Given the description of an element on the screen output the (x, y) to click on. 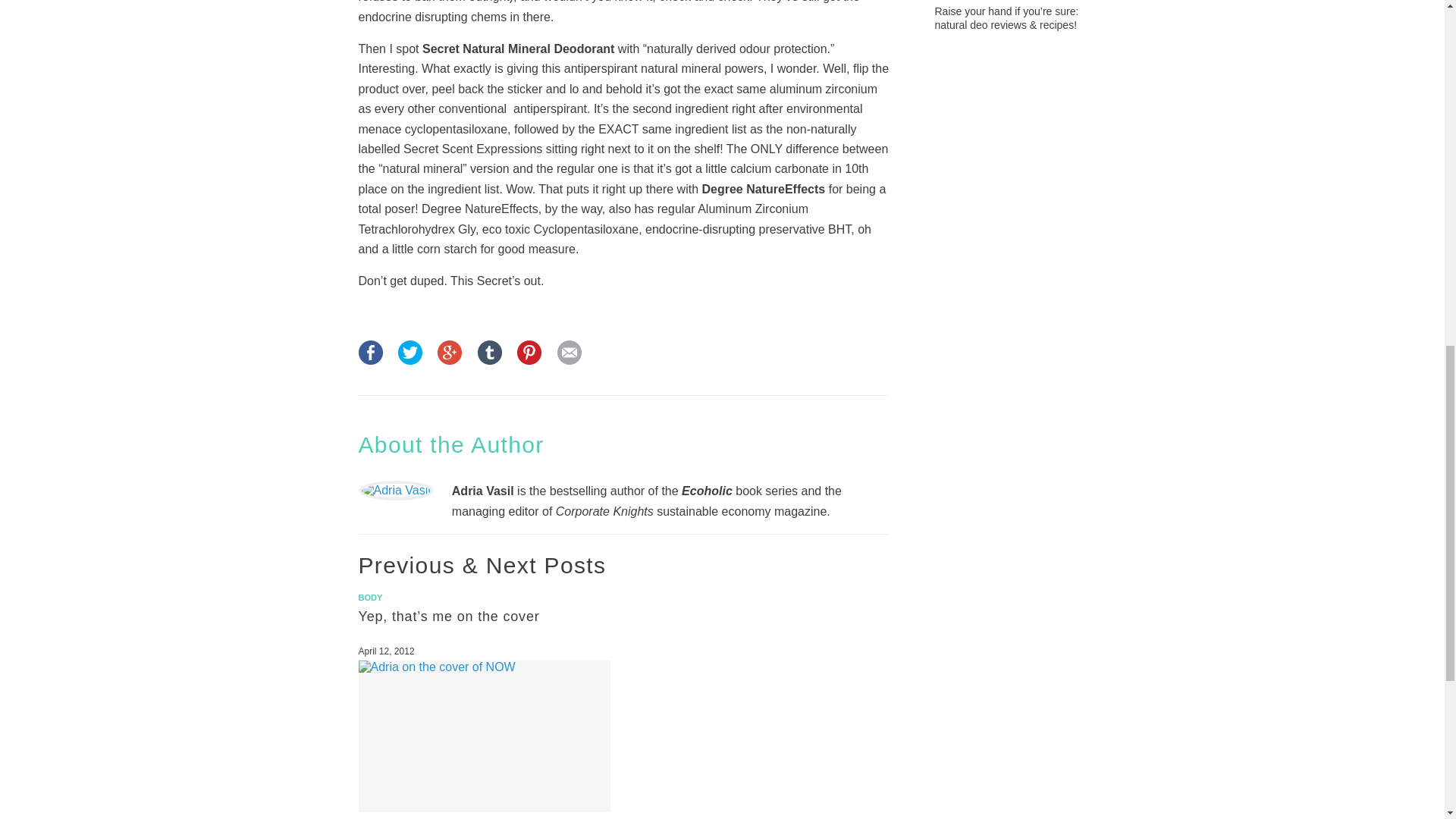
Email (568, 359)
BODY (369, 596)
Pin it (528, 359)
Tweet (409, 359)
Post to Tumblr (489, 359)
